Given the description of an element on the screen output the (x, y) to click on. 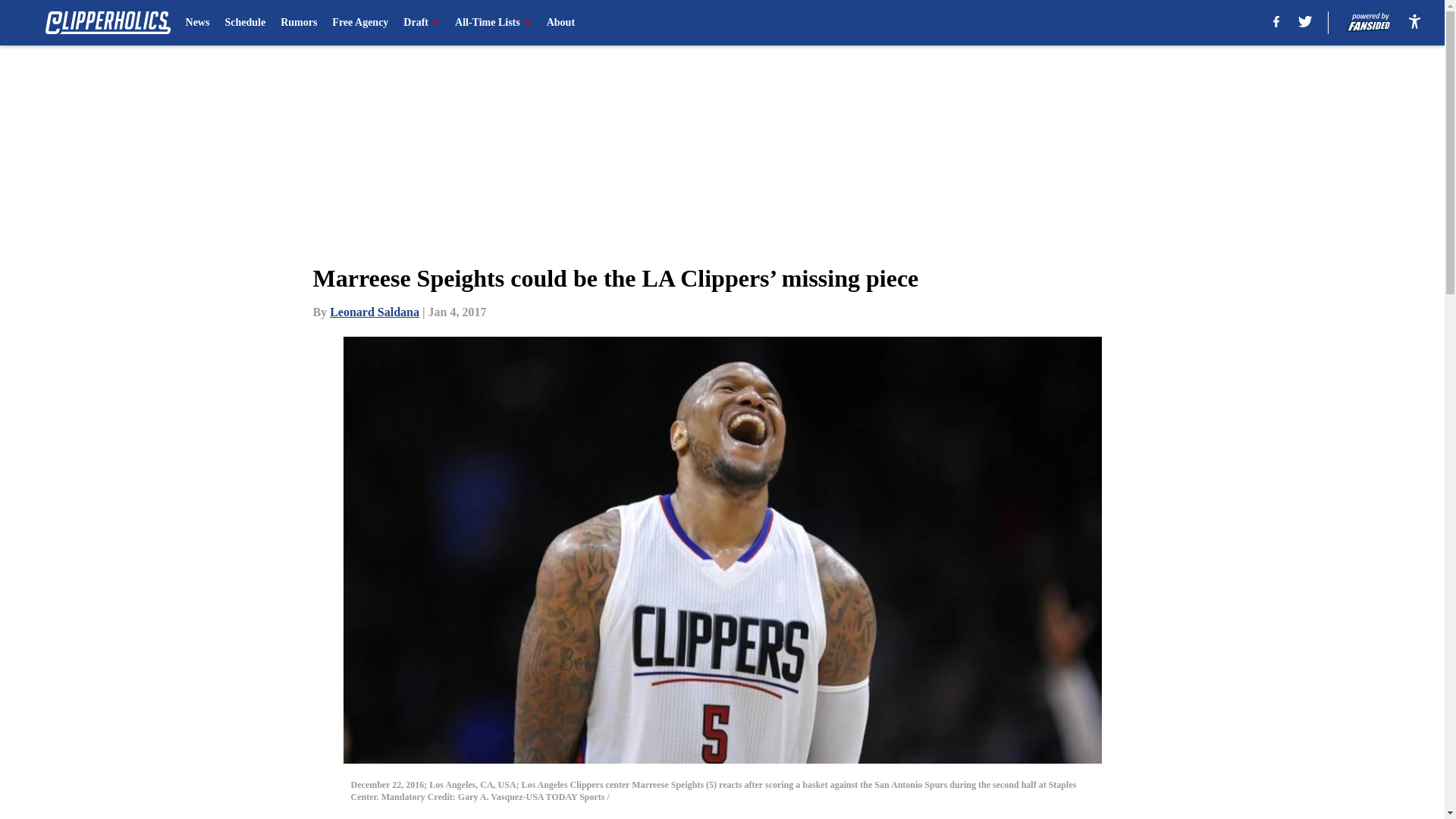
All-Time Lists (492, 22)
Leonard Saldana (374, 311)
Draft (421, 22)
About (561, 22)
Free Agency (359, 22)
Rumors (299, 22)
Schedule (244, 22)
News (197, 22)
